Given the description of an element on the screen output the (x, y) to click on. 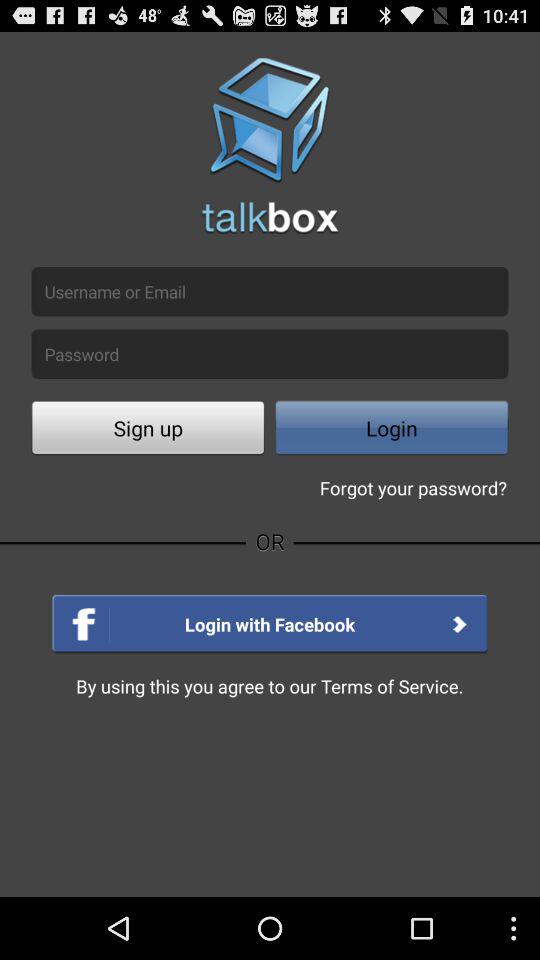
launch button next to login button (148, 430)
